Given the description of an element on the screen output the (x, y) to click on. 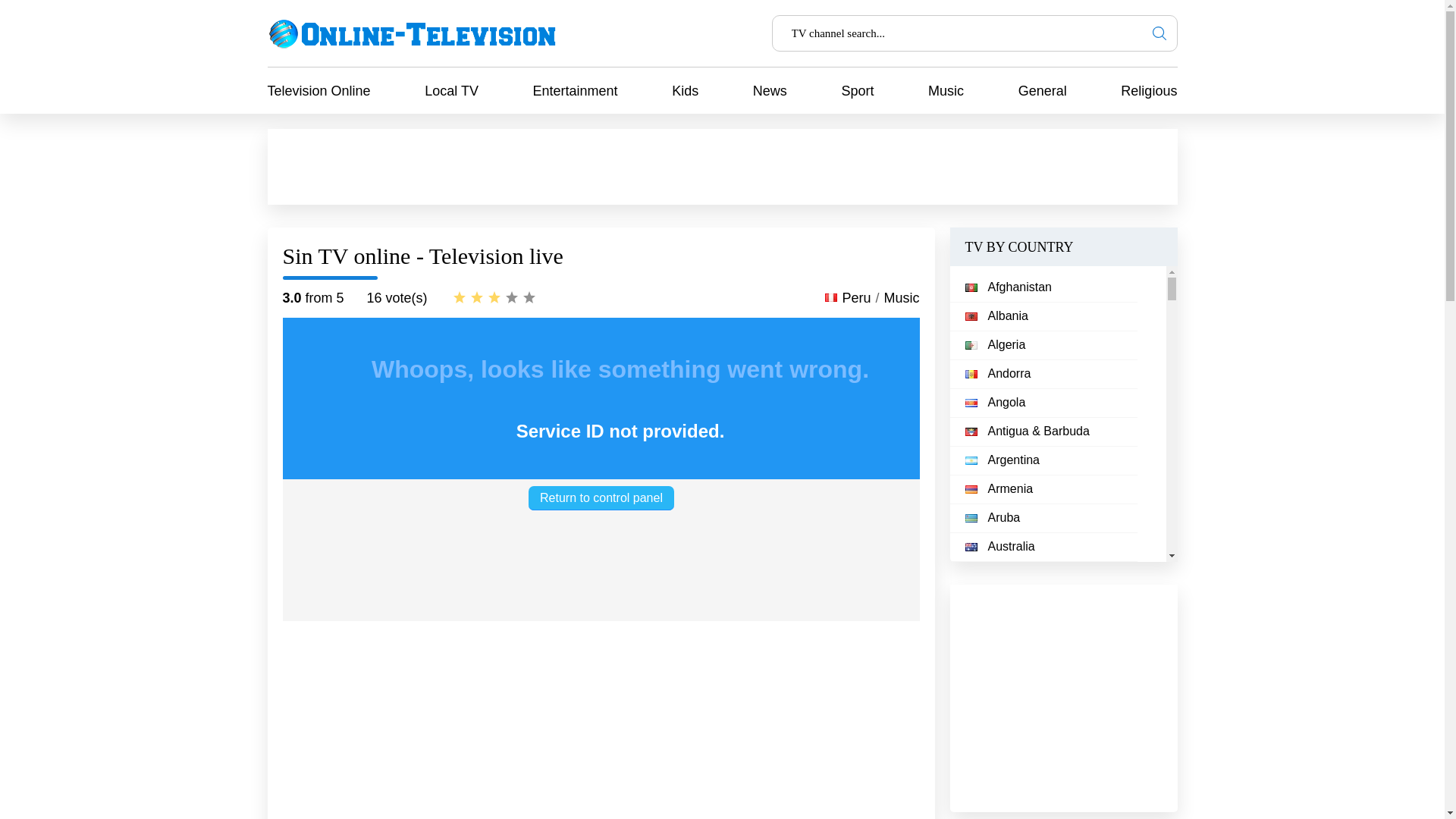
3 (493, 297)
5 (528, 297)
General (1042, 90)
Local TV (452, 90)
Good (510, 297)
Useless (458, 297)
Excellent (528, 297)
2 (475, 297)
1 (458, 297)
4 (510, 297)
